Given the description of an element on the screen output the (x, y) to click on. 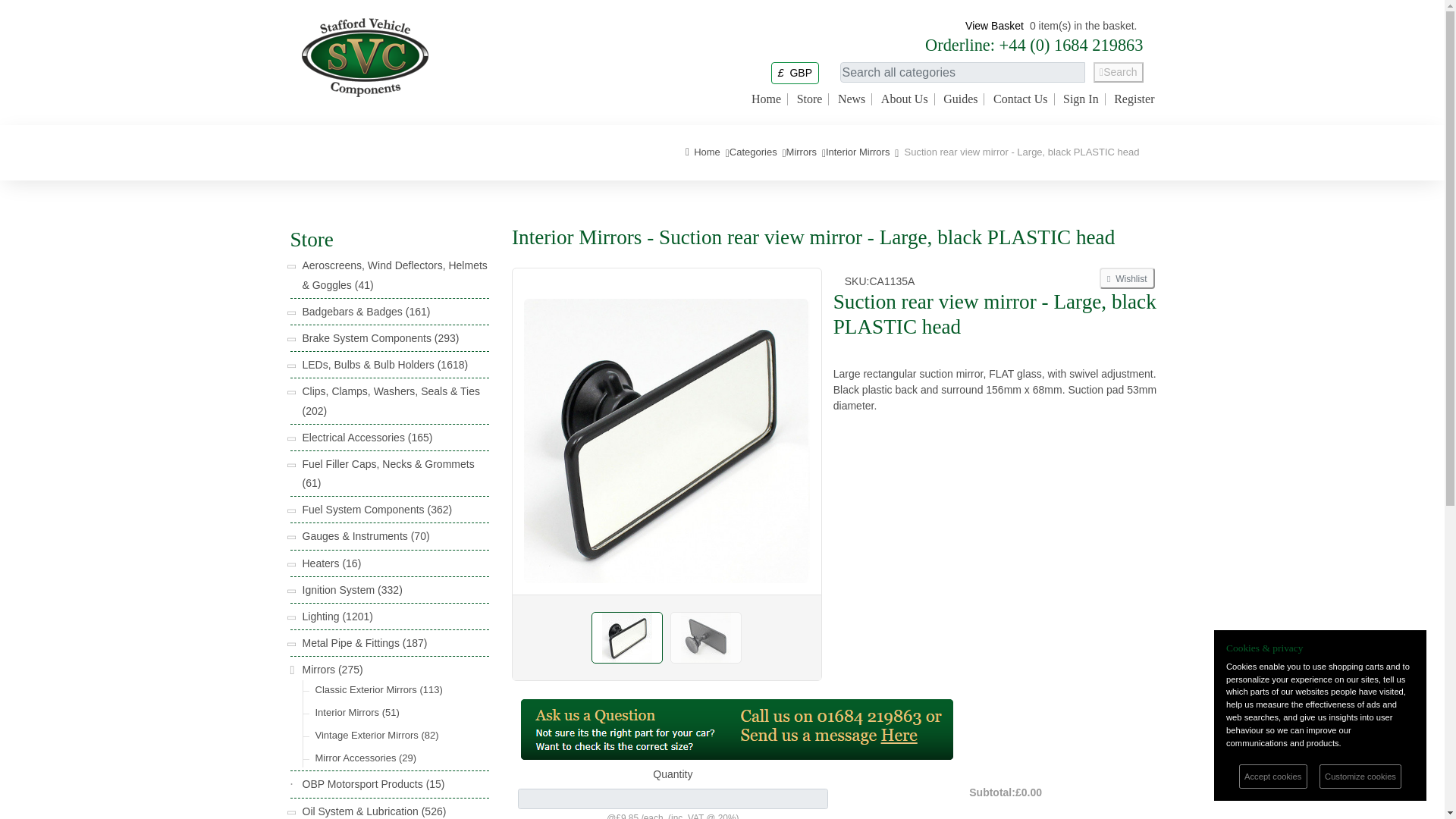
View Contact Us (1020, 99)
Mirrors - Store (801, 152)
Guides (959, 99)
View Guides (959, 99)
View Home (851, 99)
View Basket (994, 25)
Sign In (1080, 99)
Contact Us (1020, 99)
Store (809, 99)
Select Currency (794, 72)
Register (1133, 99)
Home (765, 99)
News (851, 99)
41 products in 4 subcategories (363, 285)
View Store (809, 99)
